Given the description of an element on the screen output the (x, y) to click on. 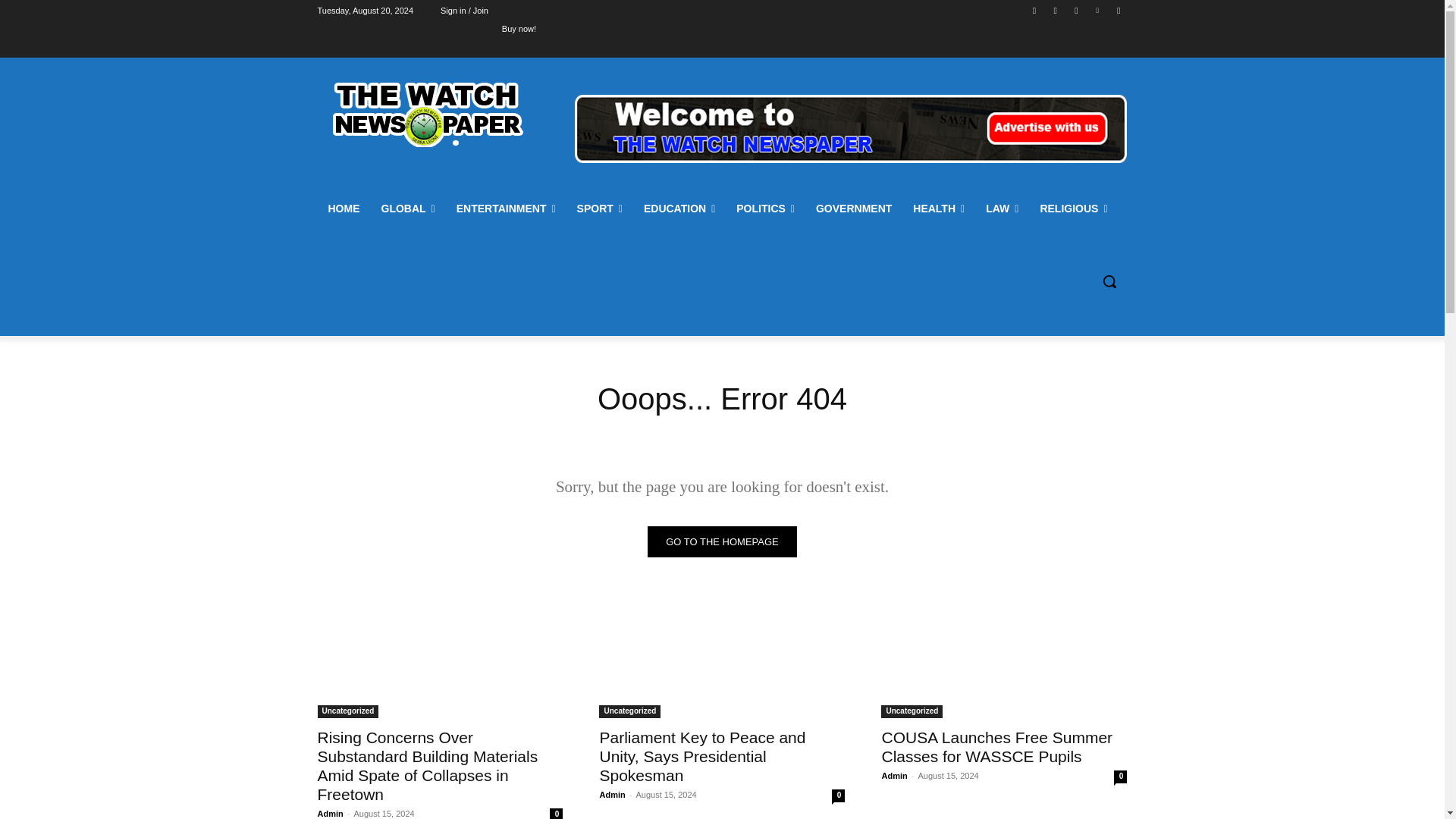
Instagram (1055, 9)
HOME (343, 208)
Vimeo (1097, 9)
Twitter (1075, 9)
Buy now! (518, 28)
GLOBAL (407, 208)
Facebook (1034, 9)
Youtube (1117, 9)
